Given the description of an element on the screen output the (x, y) to click on. 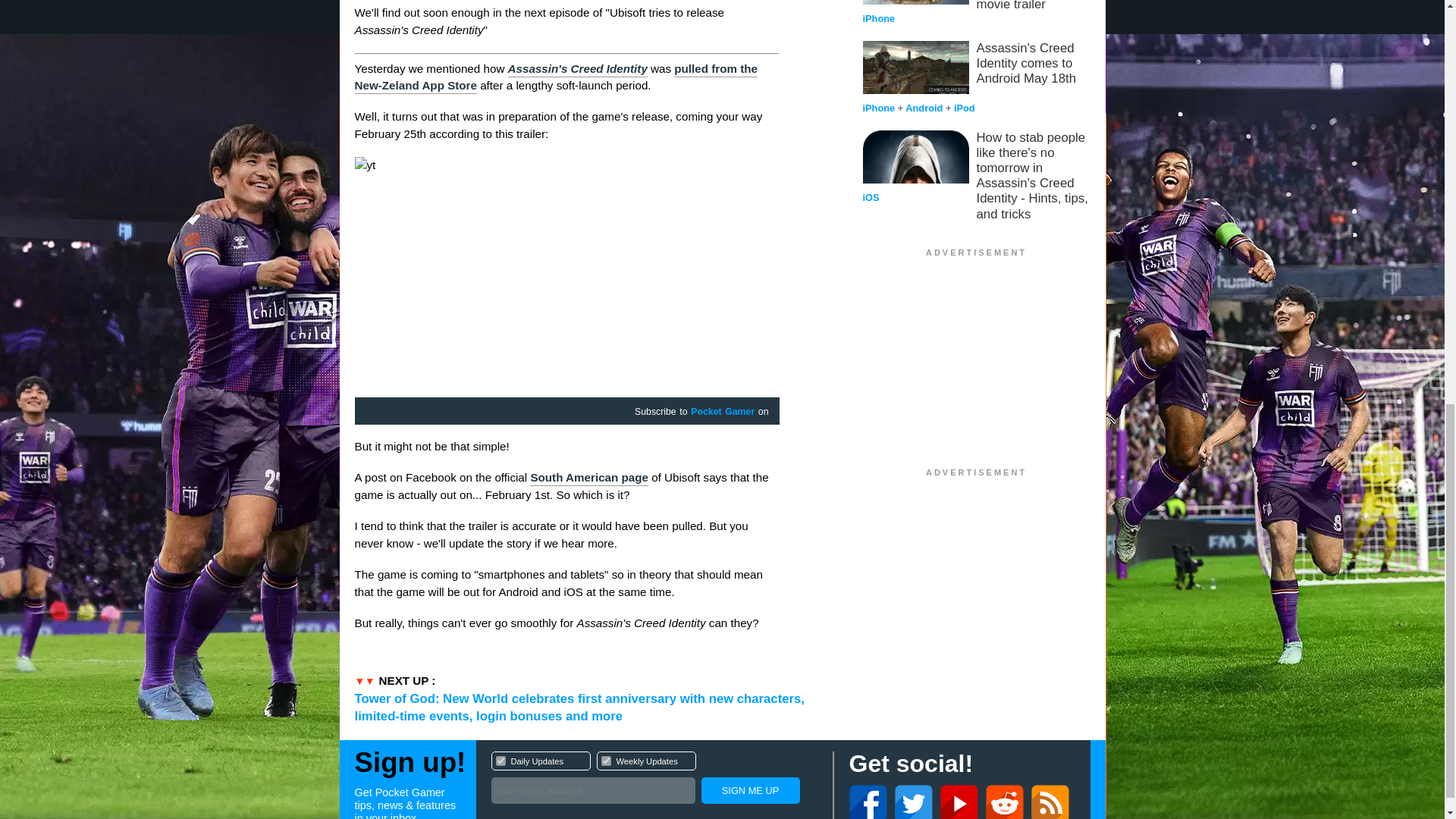
1 (500, 760)
Sign Me Up (749, 790)
Assassin's Creed Identity (577, 69)
South American page (588, 478)
Pocket Gamer (722, 412)
2 (654, 778)
pulled from the New-Zeland App Store (604, 760)
